Given the description of an element on the screen output the (x, y) to click on. 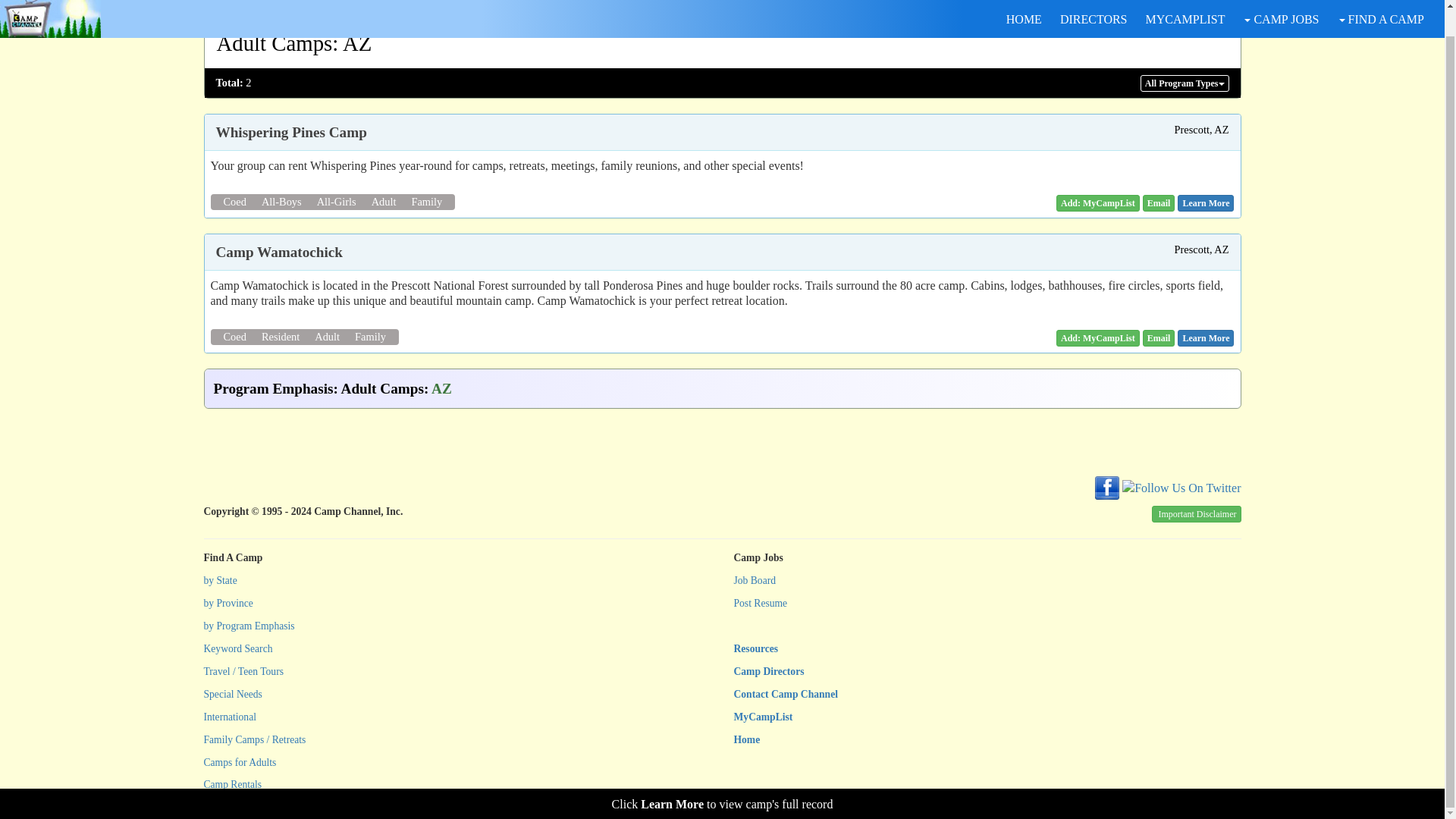
All Program Types (1184, 83)
Add: MyCampList (1098, 202)
FIND A CAMP (1379, 2)
AZ (356, 43)
MYCAMPLIST (1184, 2)
HOME (1024, 2)
Adult Camps (274, 43)
Add: MyCampList (1098, 338)
DIRECTORS (1094, 2)
CAMP JOBS (1280, 2)
